Given the description of an element on the screen output the (x, y) to click on. 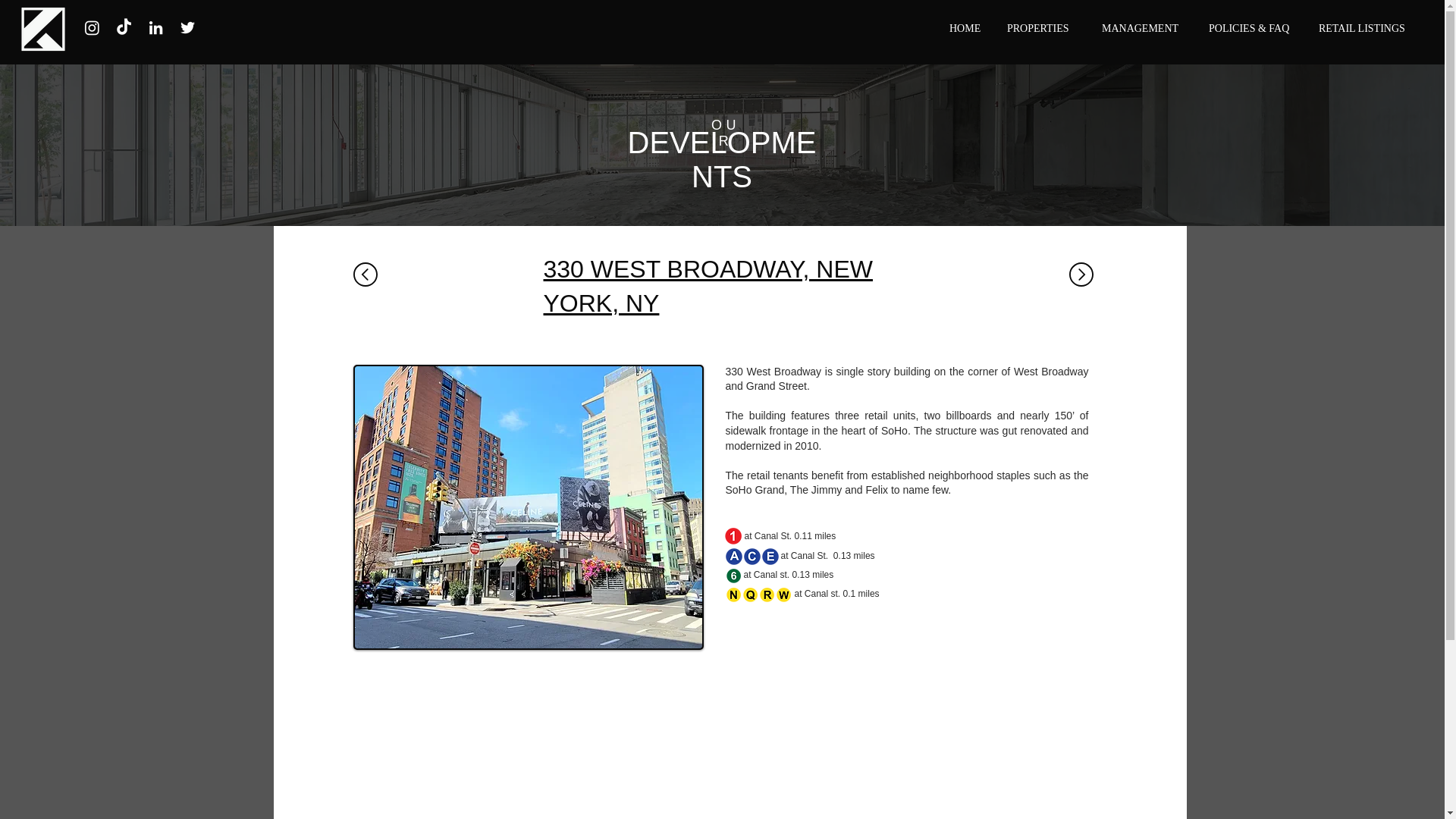
RETAIL LISTINGS (1364, 28)
Back to Properties (1029, 792)
MANAGEMENT (1143, 28)
PROPERTIES (1042, 28)
HOME (966, 28)
Google Maps (908, 739)
